Given the description of an element on the screen output the (x, y) to click on. 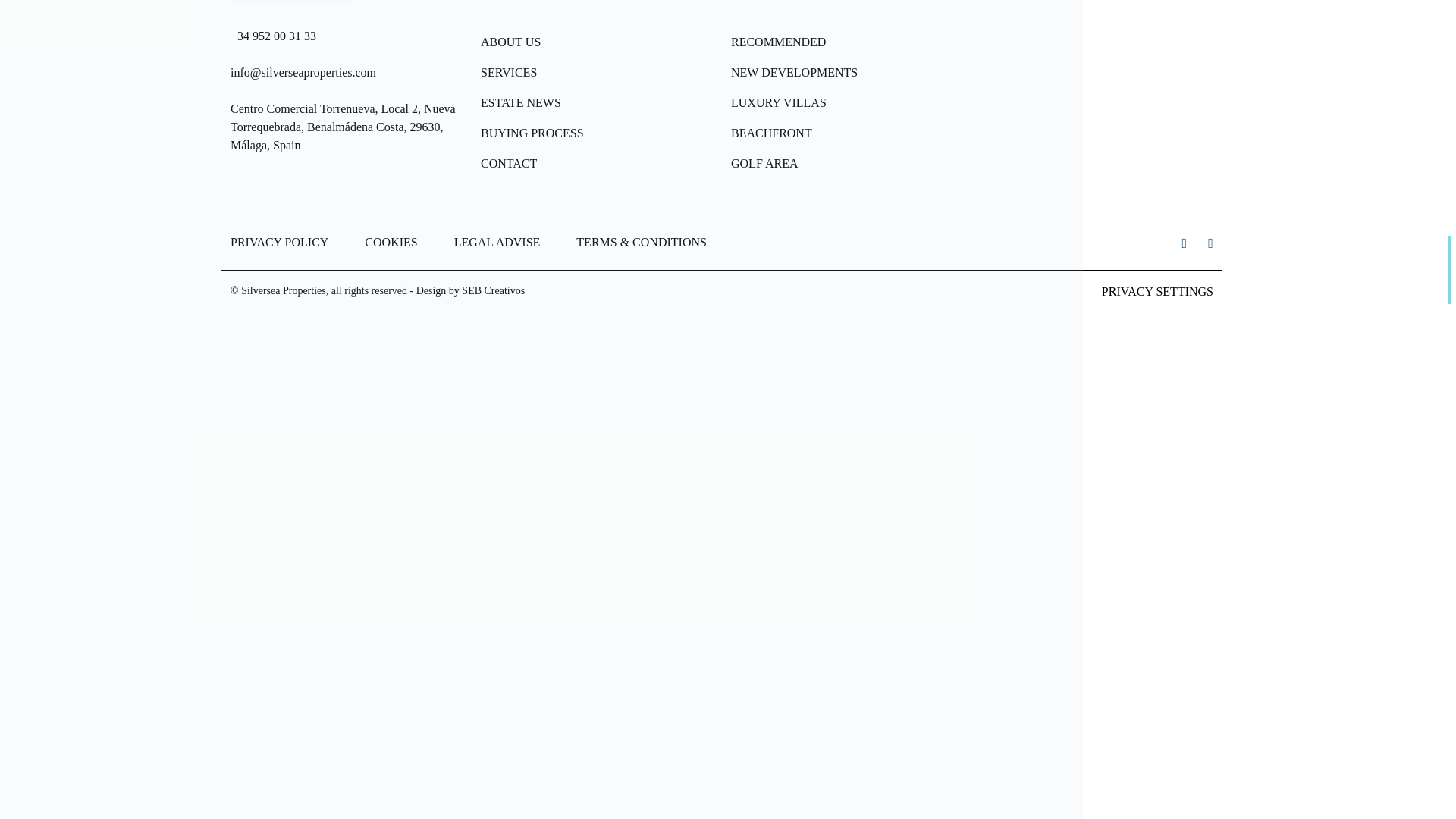
ABOUT US (596, 42)
